Given the description of an element on the screen output the (x, y) to click on. 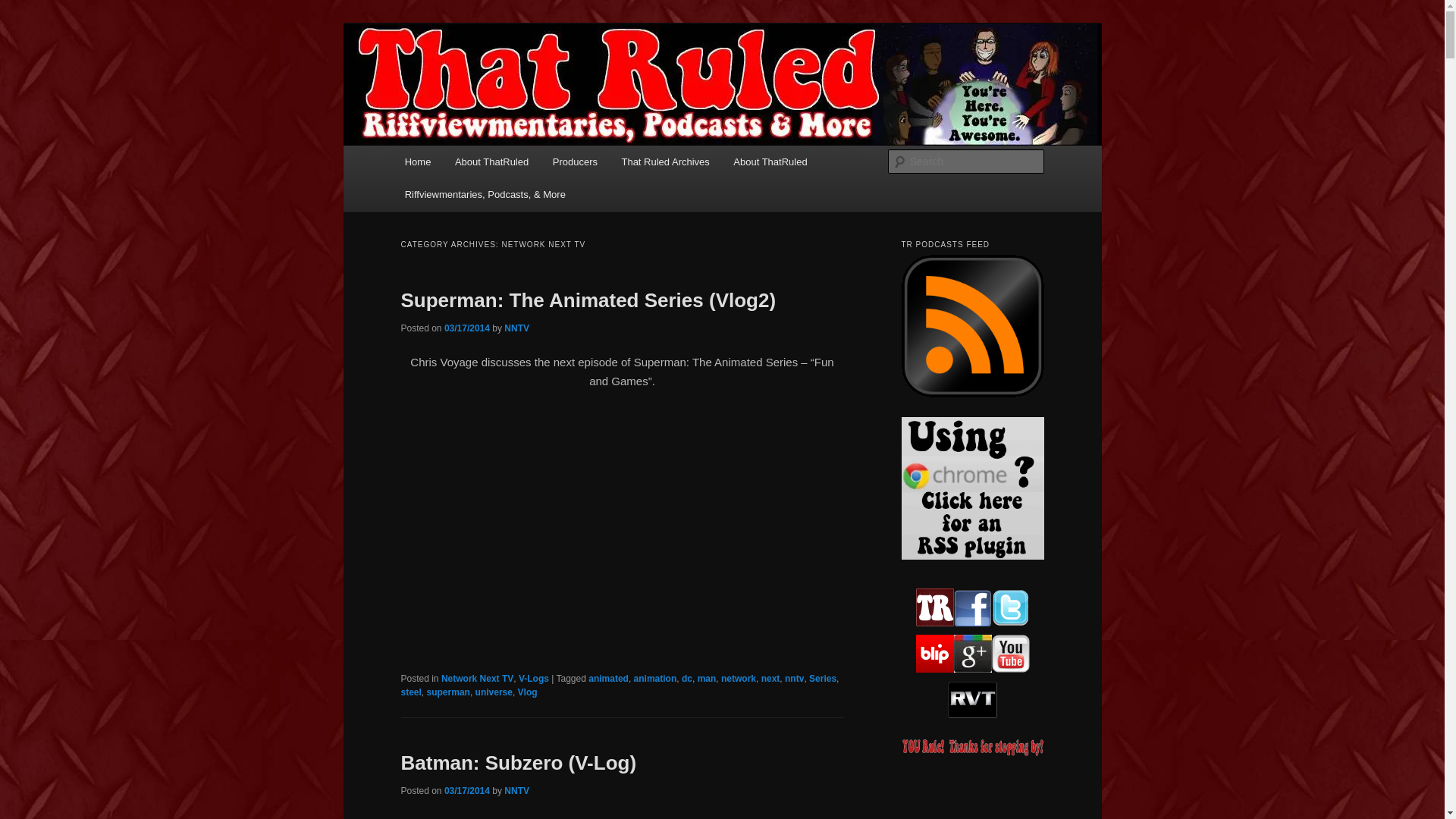
animated (608, 678)
View all posts by NNTV (516, 327)
NNTV (516, 790)
network (737, 678)
next (770, 678)
animation (655, 678)
Producers (575, 161)
nntv (793, 678)
20:34 (466, 327)
Vlog (527, 692)
dc (687, 678)
universe (494, 692)
Network Next TV (477, 678)
Search (24, 8)
